Given the description of an element on the screen output the (x, y) to click on. 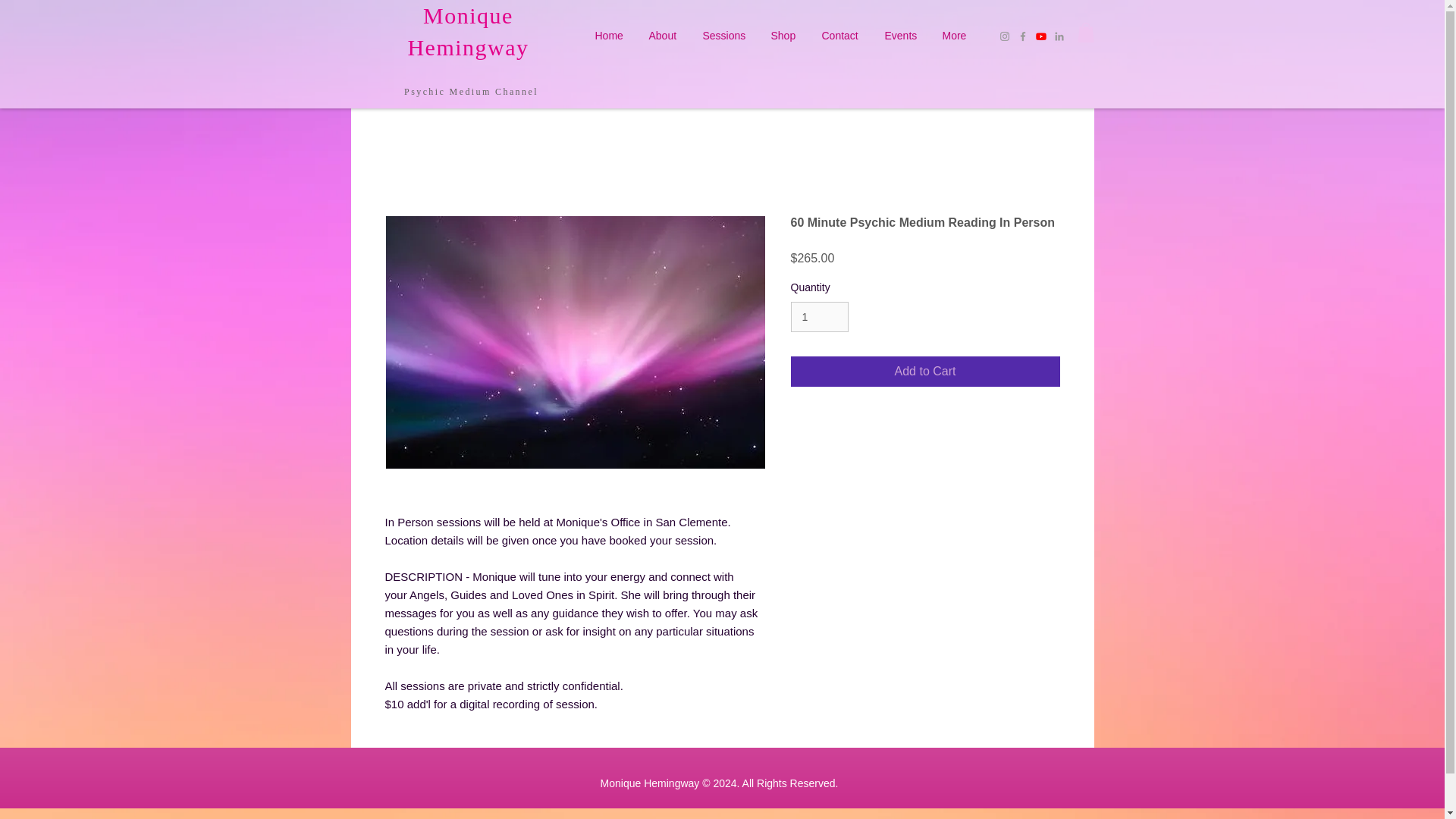
Sessions (725, 35)
Shop (785, 35)
Home (610, 35)
Contact (840, 35)
Events (902, 35)
Add to Cart (924, 371)
About (663, 35)
1 (818, 317)
